Given the description of an element on the screen output the (x, y) to click on. 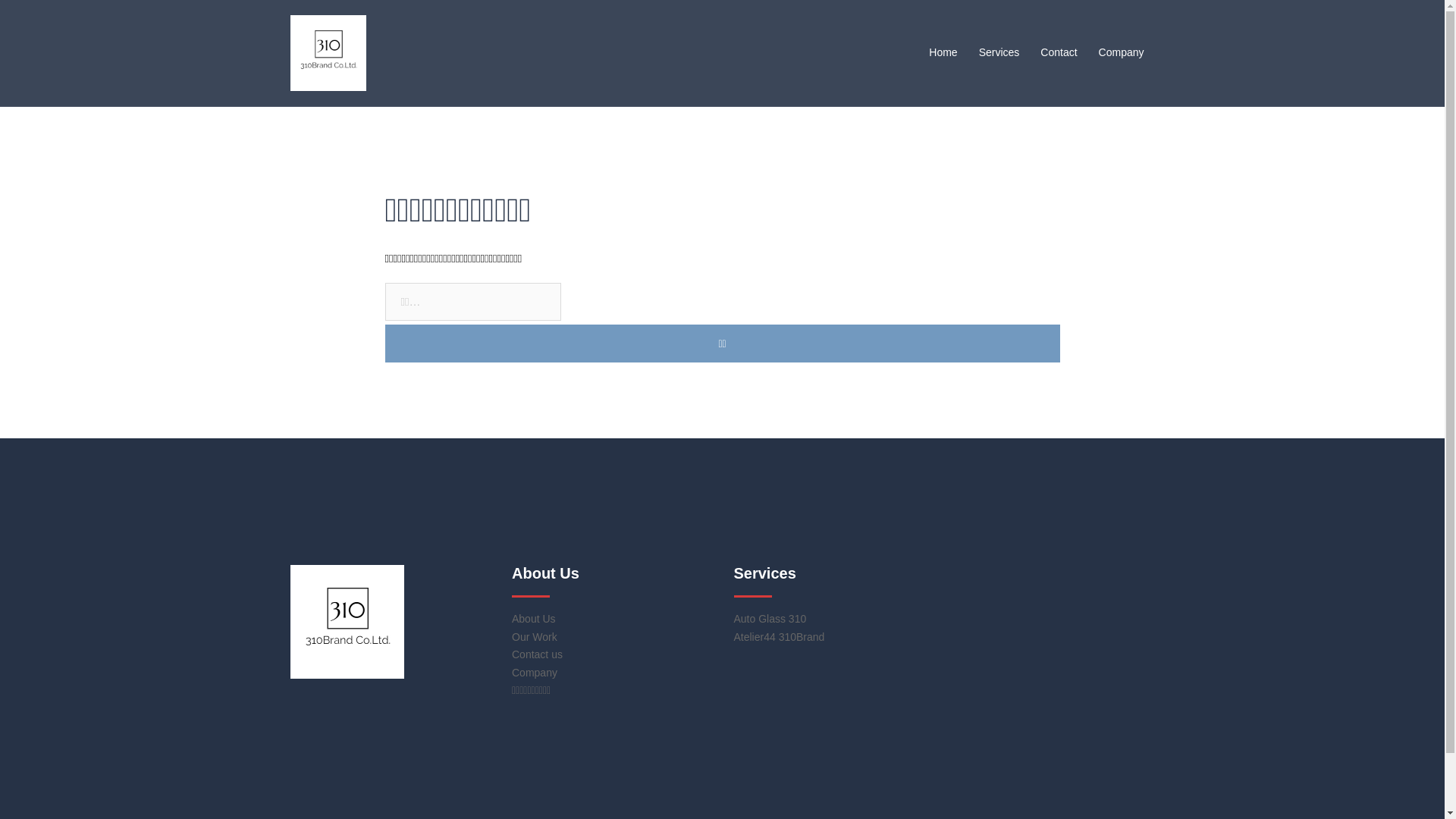
Company Element type: text (1121, 52)
Atelier44 310Brand Element type: text (779, 636)
Services Element type: text (999, 52)
310Brand Co.Ltd. Element type: hover (327, 51)
Auto Glass 310 Element type: text (770, 618)
Company Element type: text (534, 672)
Our Work Element type: text (534, 636)
Home Element type: text (942, 52)
Contact us Element type: text (536, 654)
Contact Element type: text (1058, 52)
About Us Element type: text (533, 618)
